Given the description of an element on the screen output the (x, y) to click on. 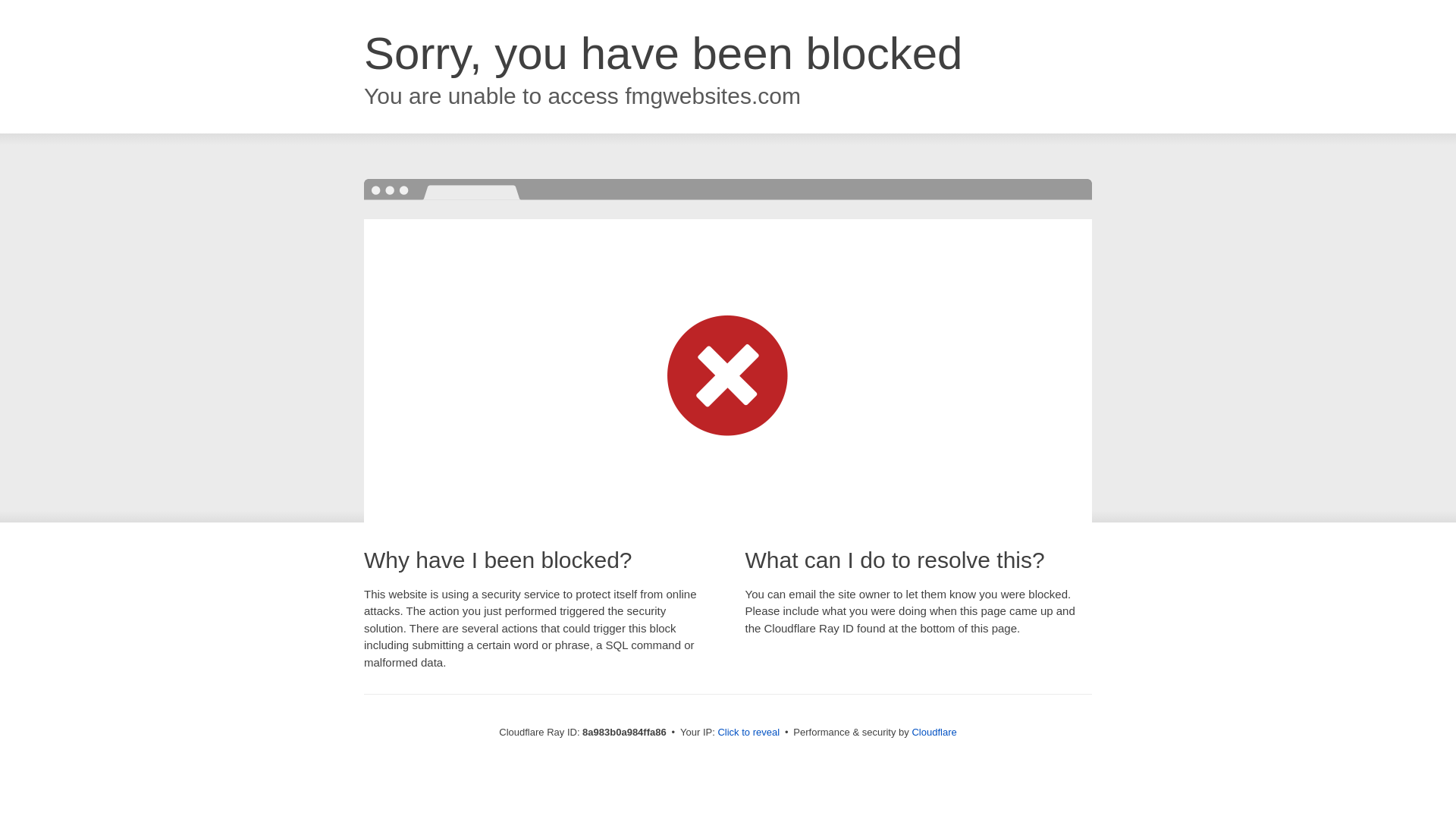
Cloudflare (933, 731)
Click to reveal (747, 732)
